Given the description of an element on the screen output the (x, y) to click on. 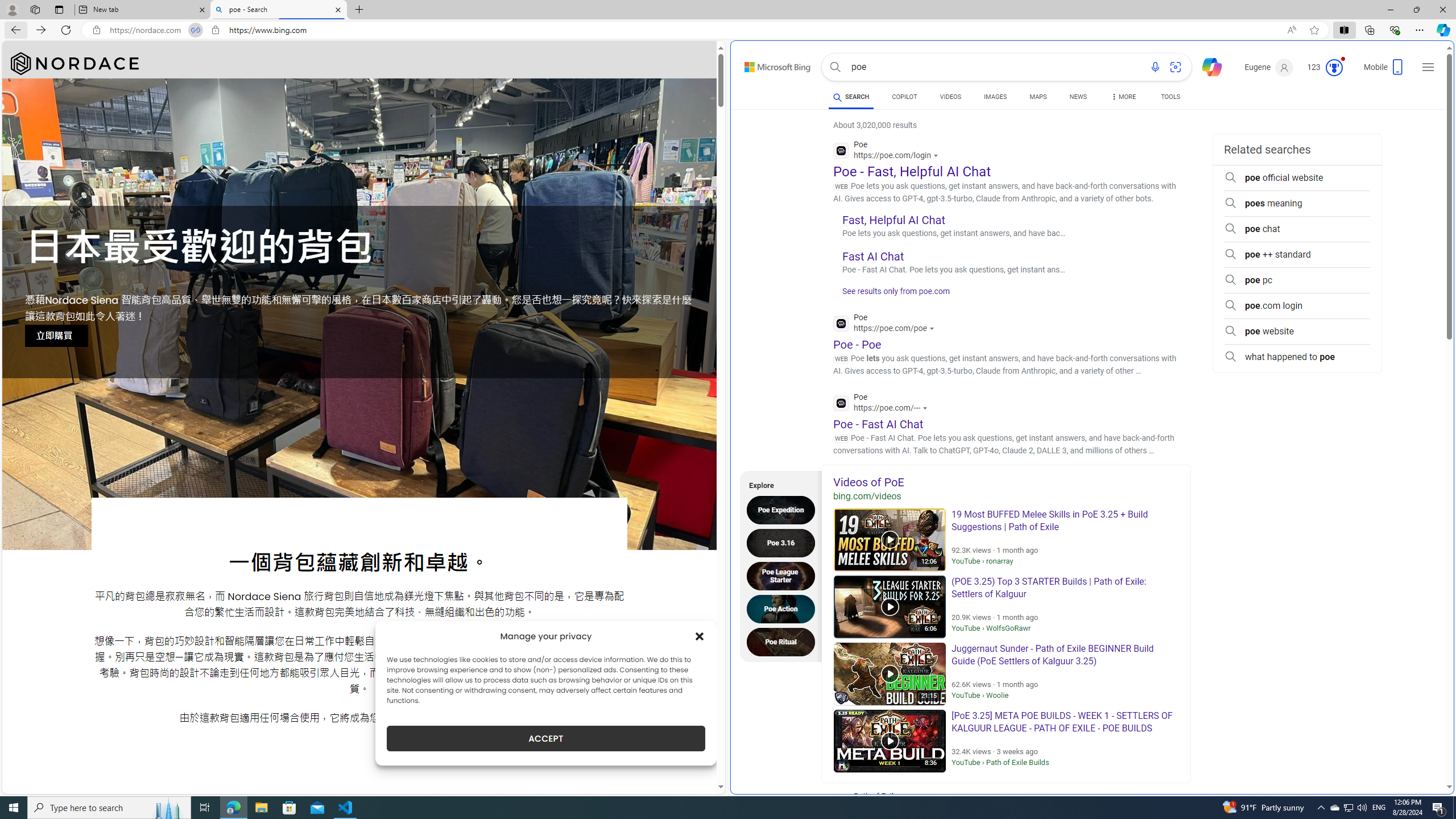
MAPS (1038, 98)
NEWS (1078, 96)
Global web icon (841, 402)
Skip to content (764, 63)
poes meaning (1297, 203)
IMAGES (995, 96)
poe pc (1297, 280)
COPILOT (903, 98)
